Given the description of an element on the screen output the (x, y) to click on. 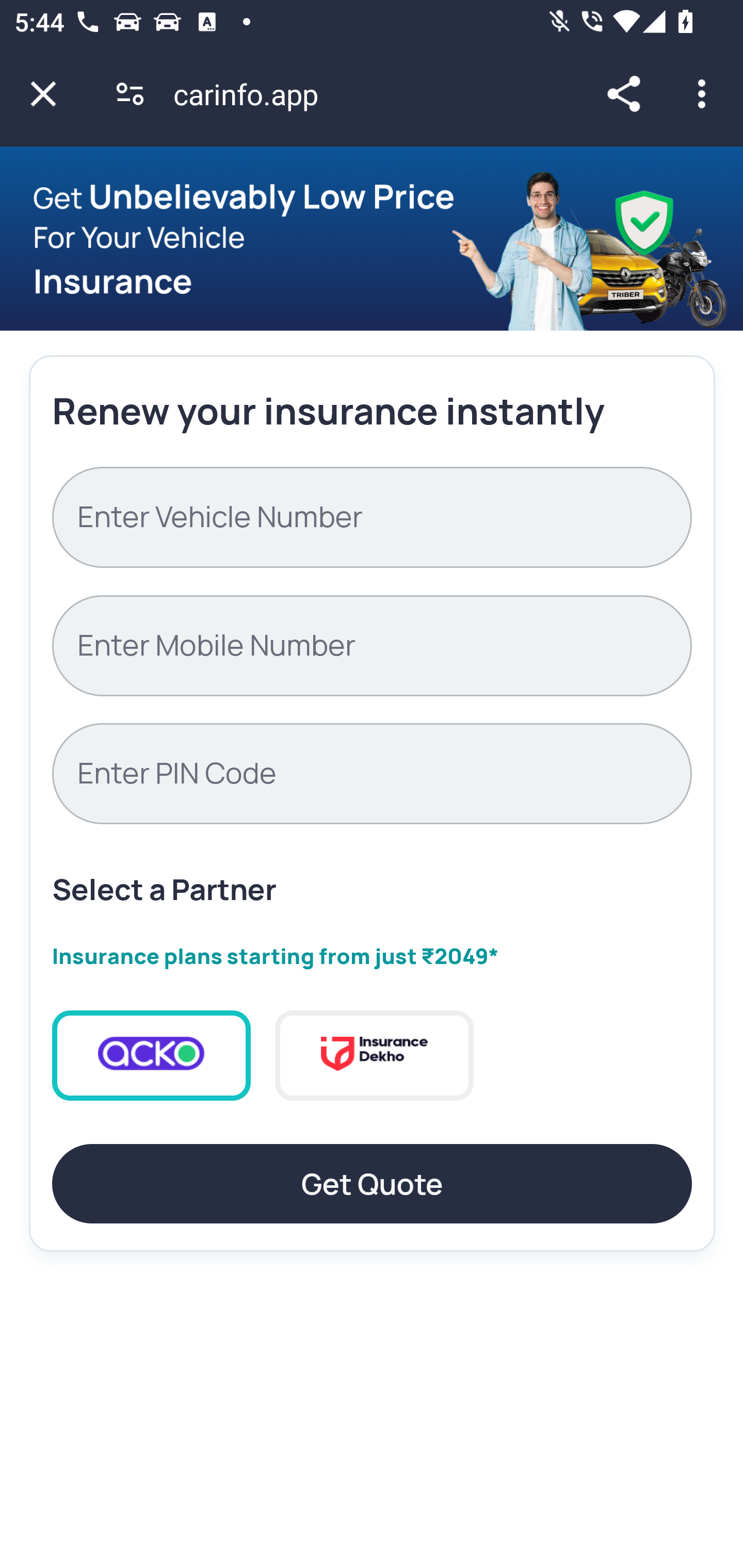
Close tab (43, 93)
Share (623, 93)
Customize and control Google Chrome (705, 93)
Connection is secure (129, 93)
carinfo.app (252, 93)
Get Quote (371, 1183)
